Given the description of an element on the screen output the (x, y) to click on. 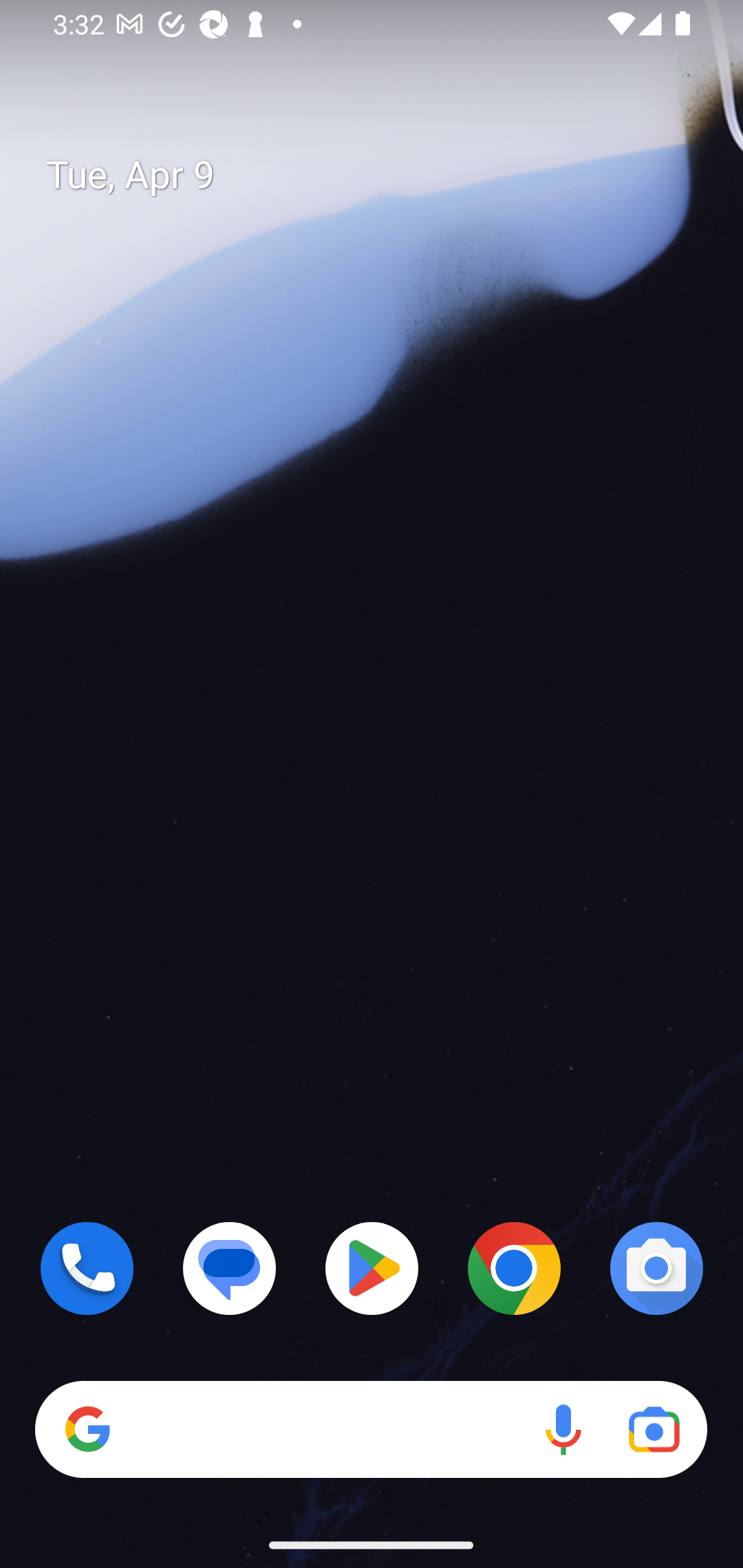
Tue, Apr 9 (386, 175)
Phone (86, 1268)
Messages (229, 1268)
Play Store (371, 1268)
Chrome (513, 1268)
Camera (656, 1268)
Search Voice search Google Lens (370, 1429)
Voice search (562, 1429)
Google Lens (653, 1429)
